Given the description of an element on the screen output the (x, y) to click on. 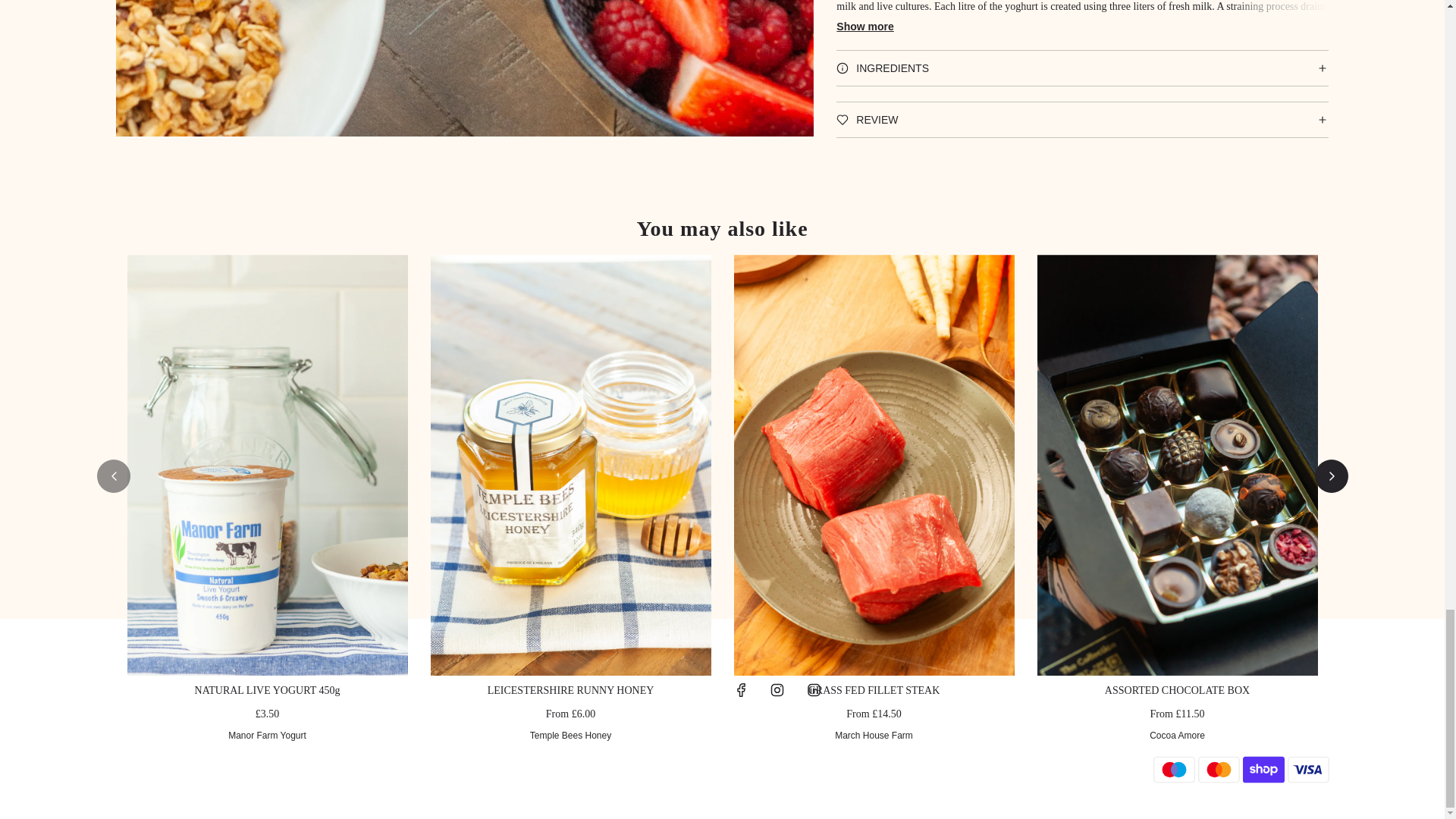
LEICESTERSHIRE RUNNY HONEY (570, 690)
ASSORTED CHOCOLATE BOX (1177, 690)
NATURAL LIVE YOGURT 450g (267, 690)
GRASS FED FILLET STEAK (874, 690)
